Given the description of an element on the screen output the (x, y) to click on. 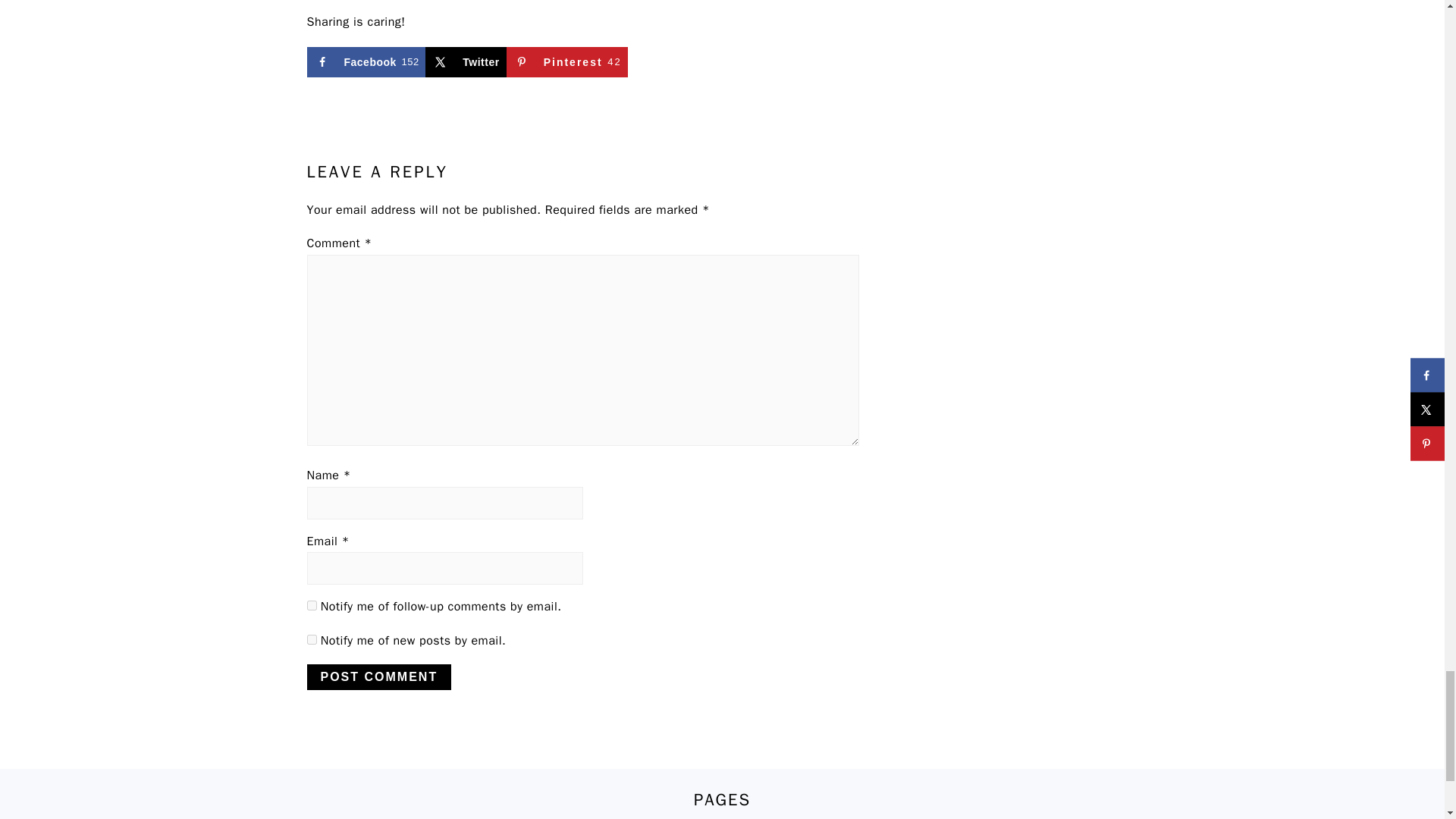
Post Comment (378, 677)
subscribe (310, 639)
subscribe (310, 605)
